Given the description of an element on the screen output the (x, y) to click on. 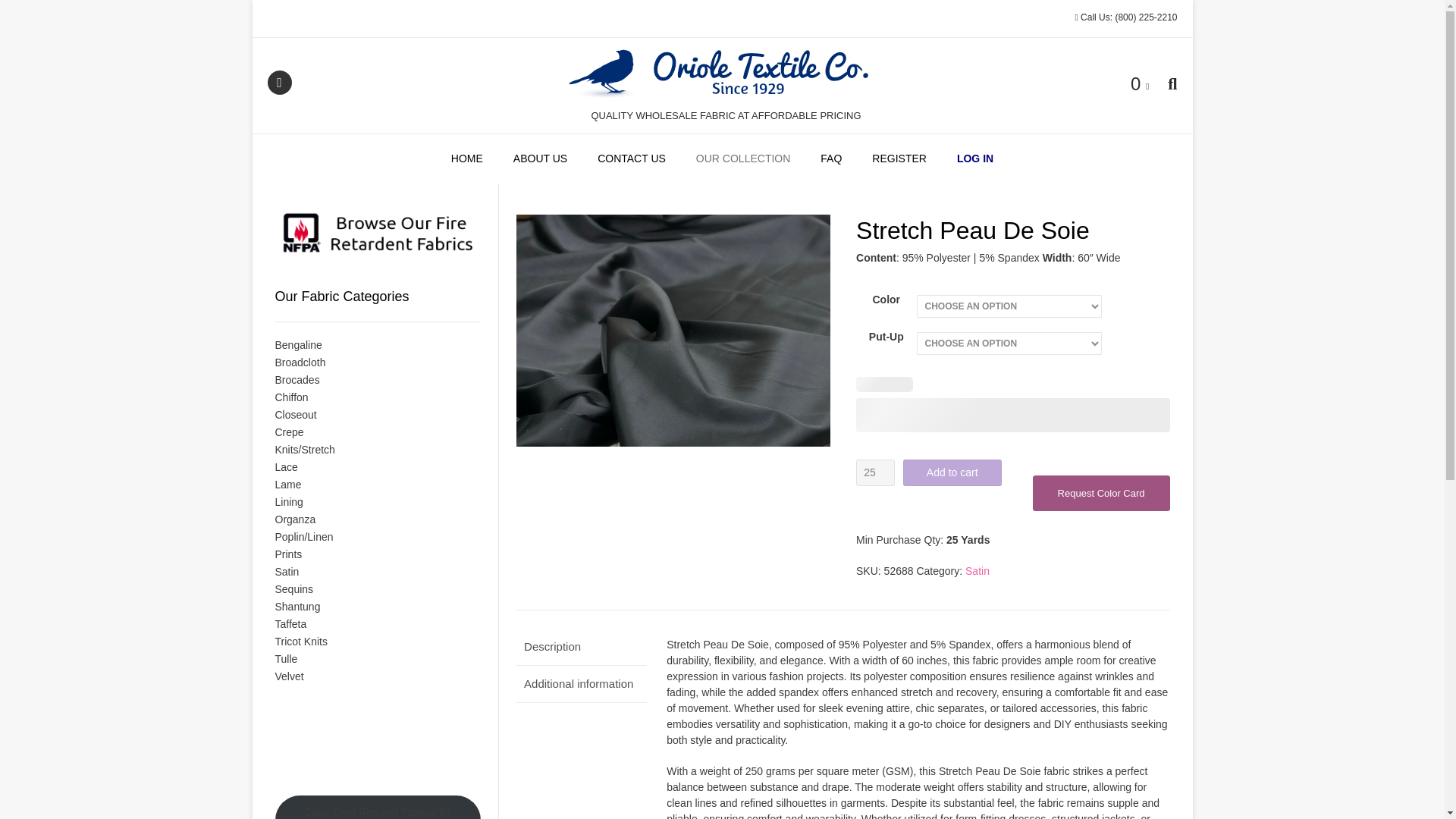
Additional information (581, 683)
25 (875, 472)
Oriole Textile Co. (721, 73)
Add to cart (951, 472)
HOME (466, 159)
REGISTER (899, 159)
Send Us an Email (278, 82)
Satin (977, 571)
OUR COLLECTION (743, 159)
Closeout (295, 414)
LOG IN (975, 159)
ABOUT US (539, 159)
FAQ (831, 159)
Description (581, 647)
52688 (672, 330)
